Given the description of an element on the screen output the (x, y) to click on. 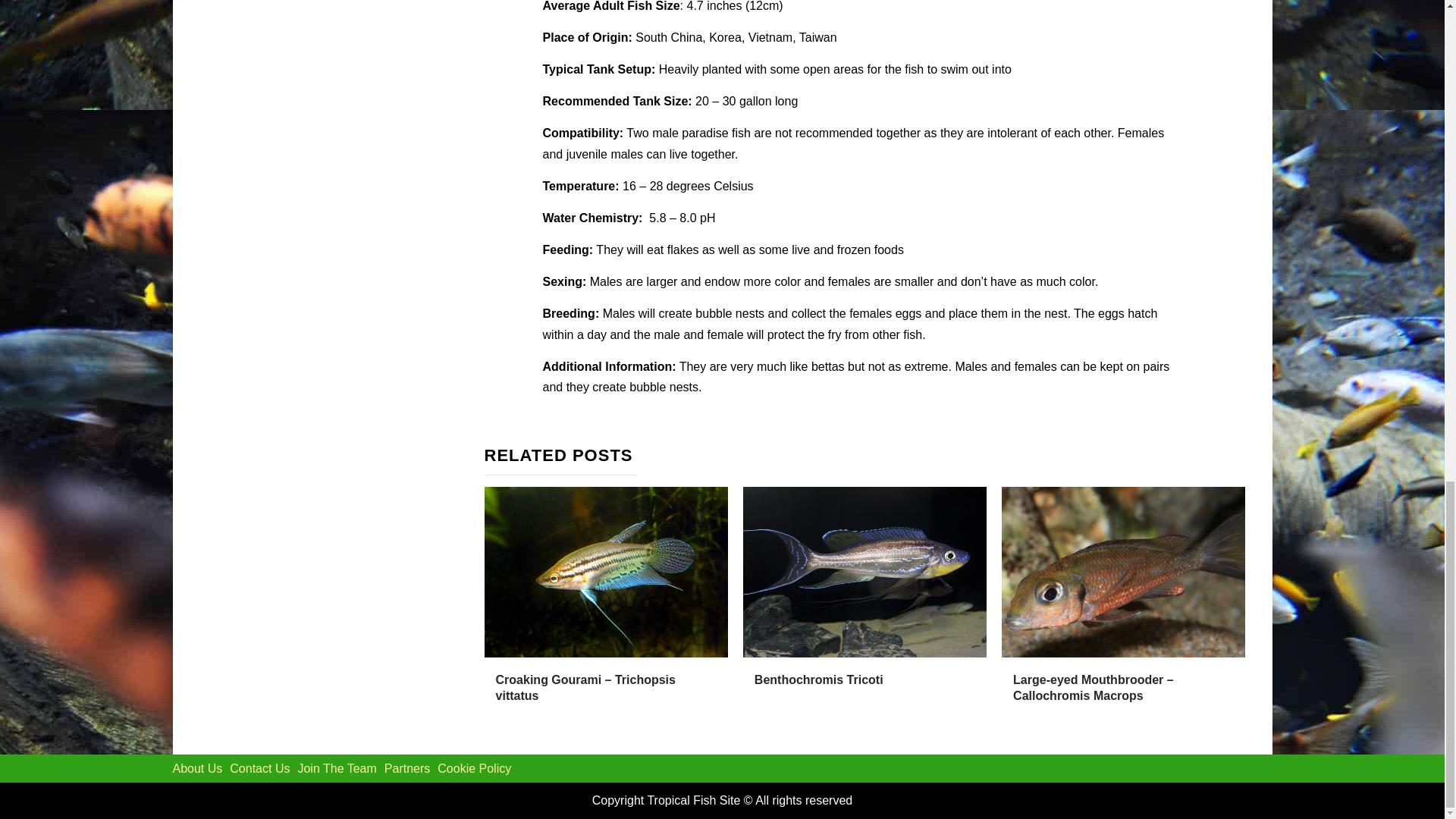
Join The Team (336, 768)
Contact Us (259, 768)
Cookie Policy (474, 768)
About Us (197, 768)
Partners (406, 768)
Benthochromis Tricoti (818, 679)
